Given the description of an element on the screen output the (x, y) to click on. 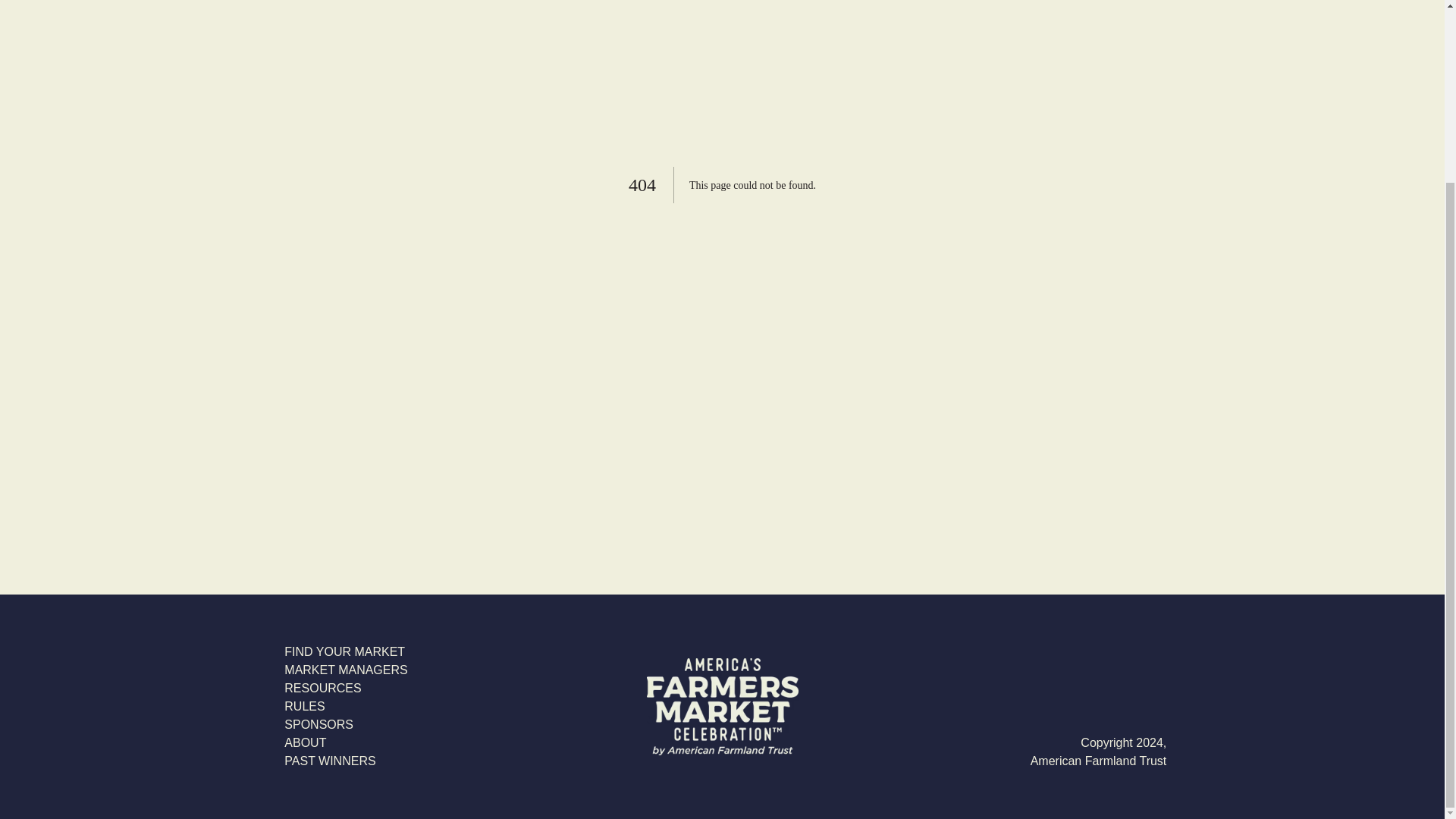
FIND YOUR MARKET (345, 651)
RESOURCES (345, 688)
ABOUT (345, 742)
RULES (345, 706)
MARKET MANAGERS (345, 669)
SPONSORS (345, 724)
PAST WINNERS (345, 761)
